Given the description of an element on the screen output the (x, y) to click on. 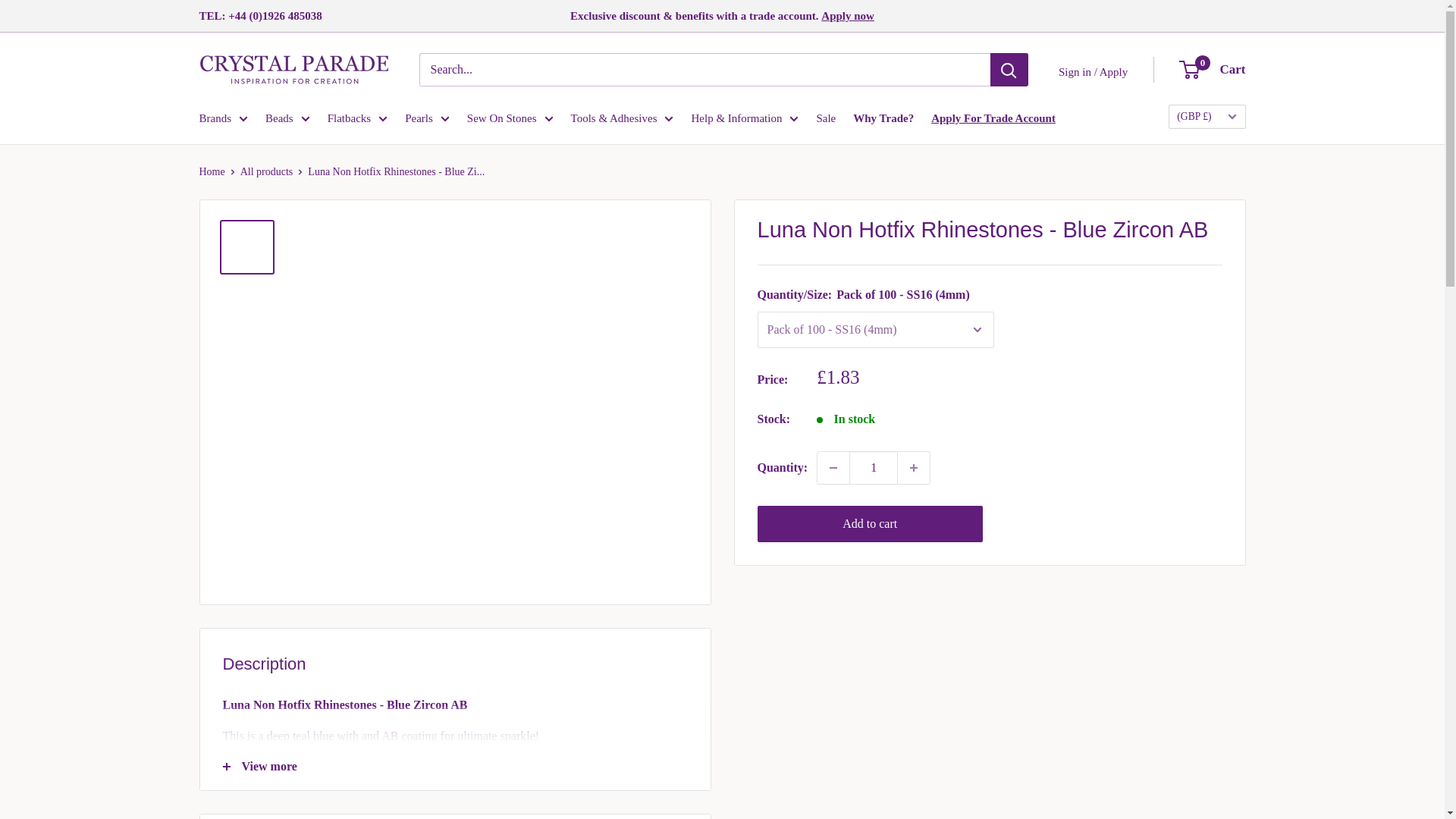
Decrease quantity by 1 (832, 468)
Apply now (848, 15)
Increase quantity by 1 (914, 468)
1 (873, 468)
